Given the description of an element on the screen output the (x, y) to click on. 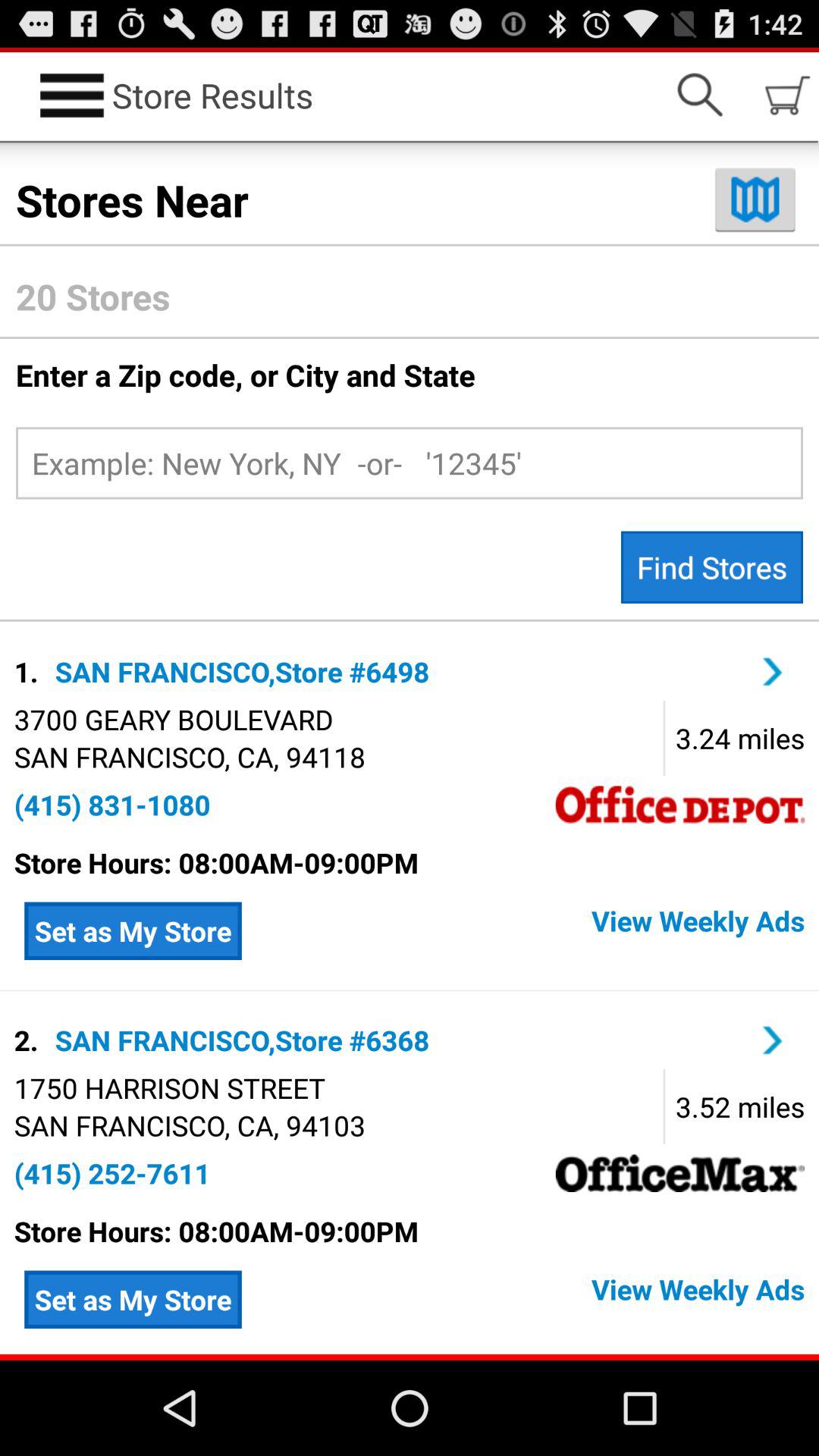
click on search icon (699, 95)
click on view weekly adds (527, 1300)
go to the icon left to store results (72, 95)
select the number 415 831  1080 which is below san francisco ca 94118 (112, 805)
select the text which is immediately below san franciscoca94103 (112, 1173)
